Given the description of an element on the screen output the (x, y) to click on. 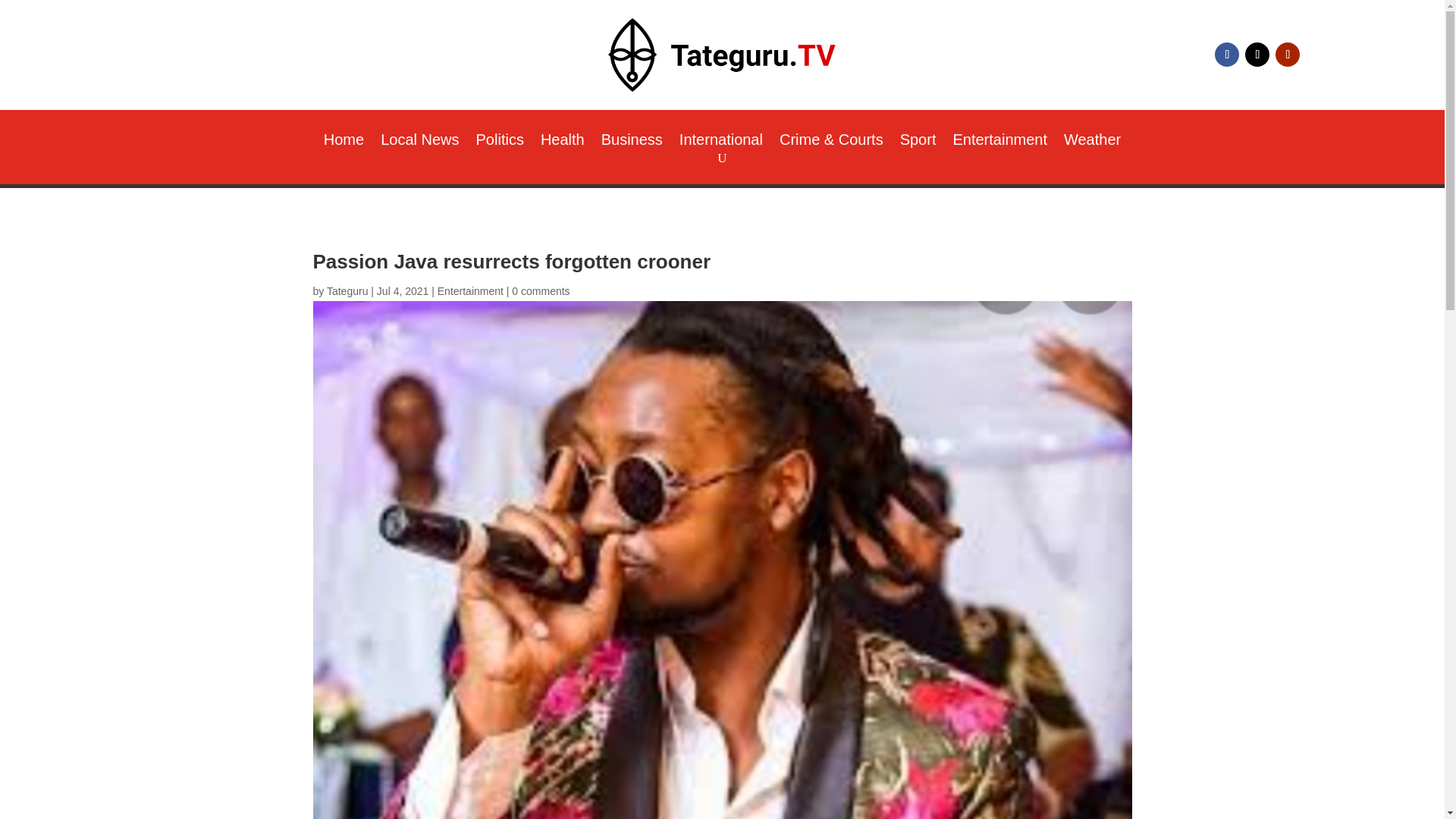
International (720, 142)
Sport (917, 142)
Business (631, 142)
Weather (1092, 142)
Follow on Facebook (1226, 54)
Follow on X (1256, 54)
Home (343, 142)
0 comments (540, 291)
Entertainment (999, 142)
Tateguru (347, 291)
